Given the description of an element on the screen output the (x, y) to click on. 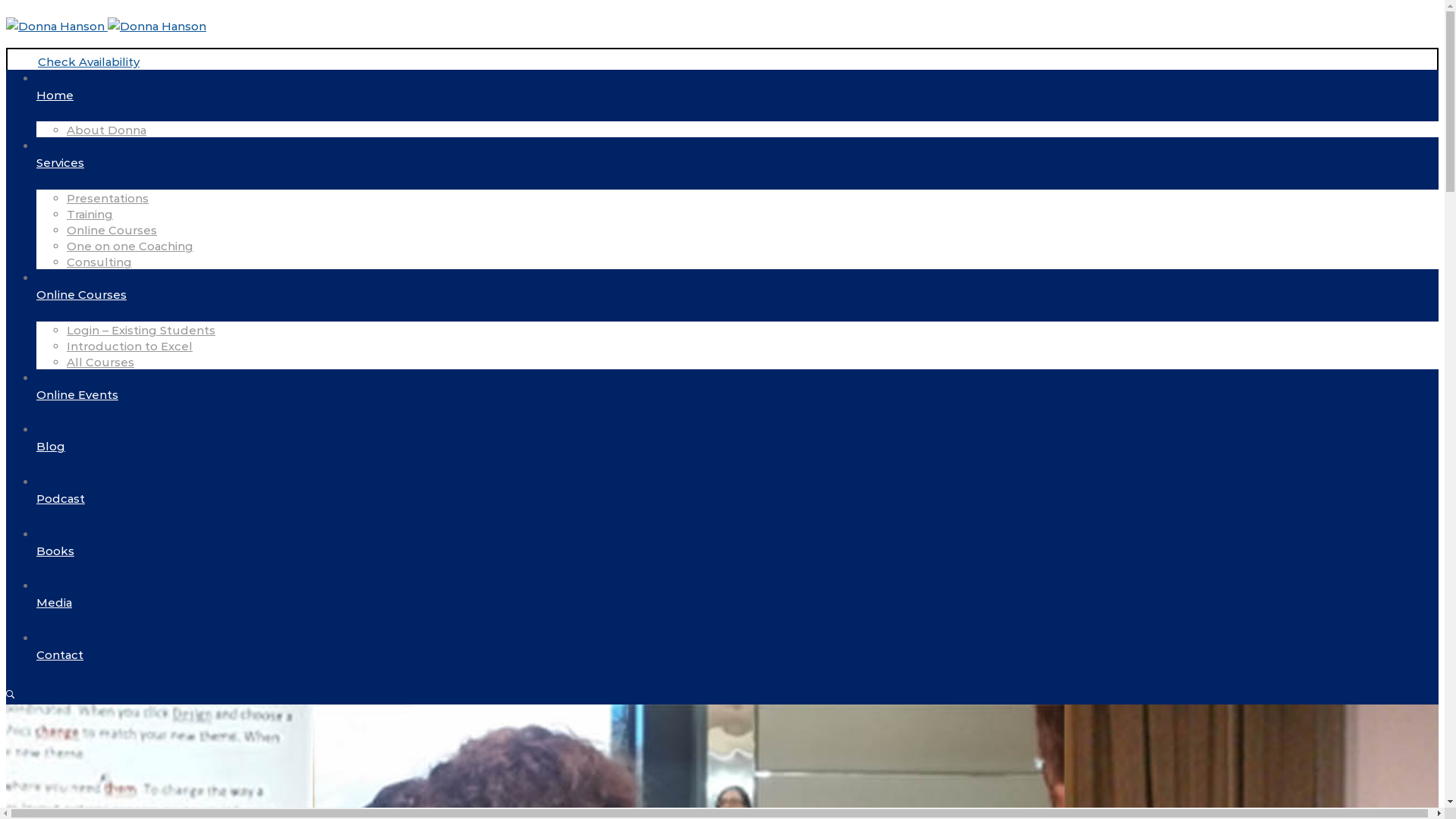
Consulting Element type: text (752, 262)
About Donna Element type: text (752, 130)
Books Element type: text (737, 550)
Online Courses Element type: text (737, 294)
Online Courses Element type: text (752, 230)
Home Element type: text (737, 94)
Check Availability Element type: text (88, 61)
Media Element type: text (737, 602)
Introduction to Excel Element type: text (752, 346)
Presentations Element type: text (752, 198)
Podcast Element type: text (737, 498)
Online Events Element type: text (737, 394)
All Courses Element type: text (752, 362)
Training Element type: text (752, 214)
Services Element type: text (737, 162)
Blog Element type: text (737, 445)
Contact Element type: text (737, 654)
One on one Coaching Element type: text (752, 246)
